Given the description of an element on the screen output the (x, y) to click on. 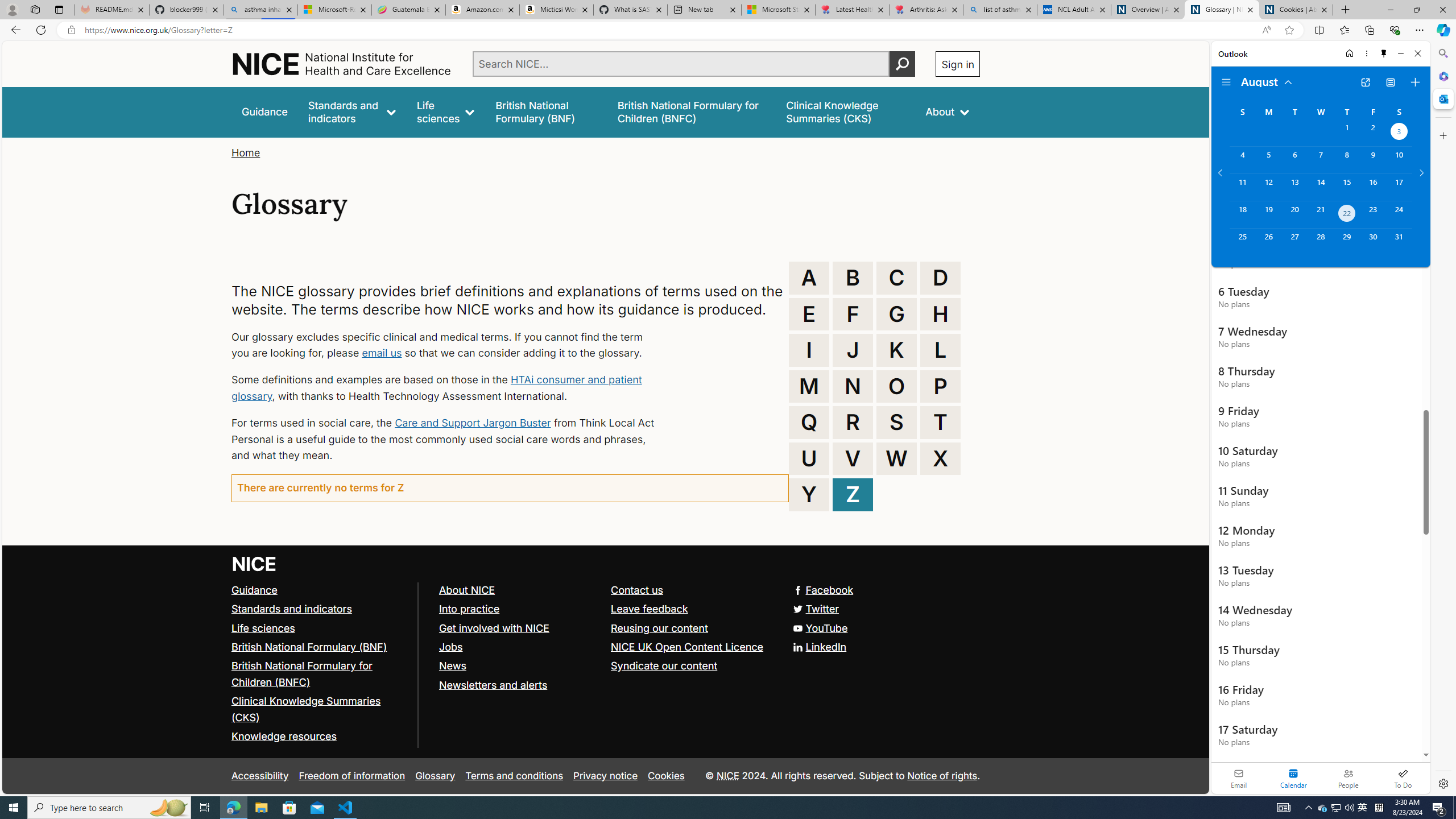
W (896, 458)
D (940, 277)
British National Formulary for Children (BNFC) (301, 673)
R (852, 422)
Create event (1414, 82)
Care and Support Jargon Buster (472, 422)
V (852, 458)
Wednesday, August 21, 2024.  (1320, 214)
